Given the description of an element on the screen output the (x, y) to click on. 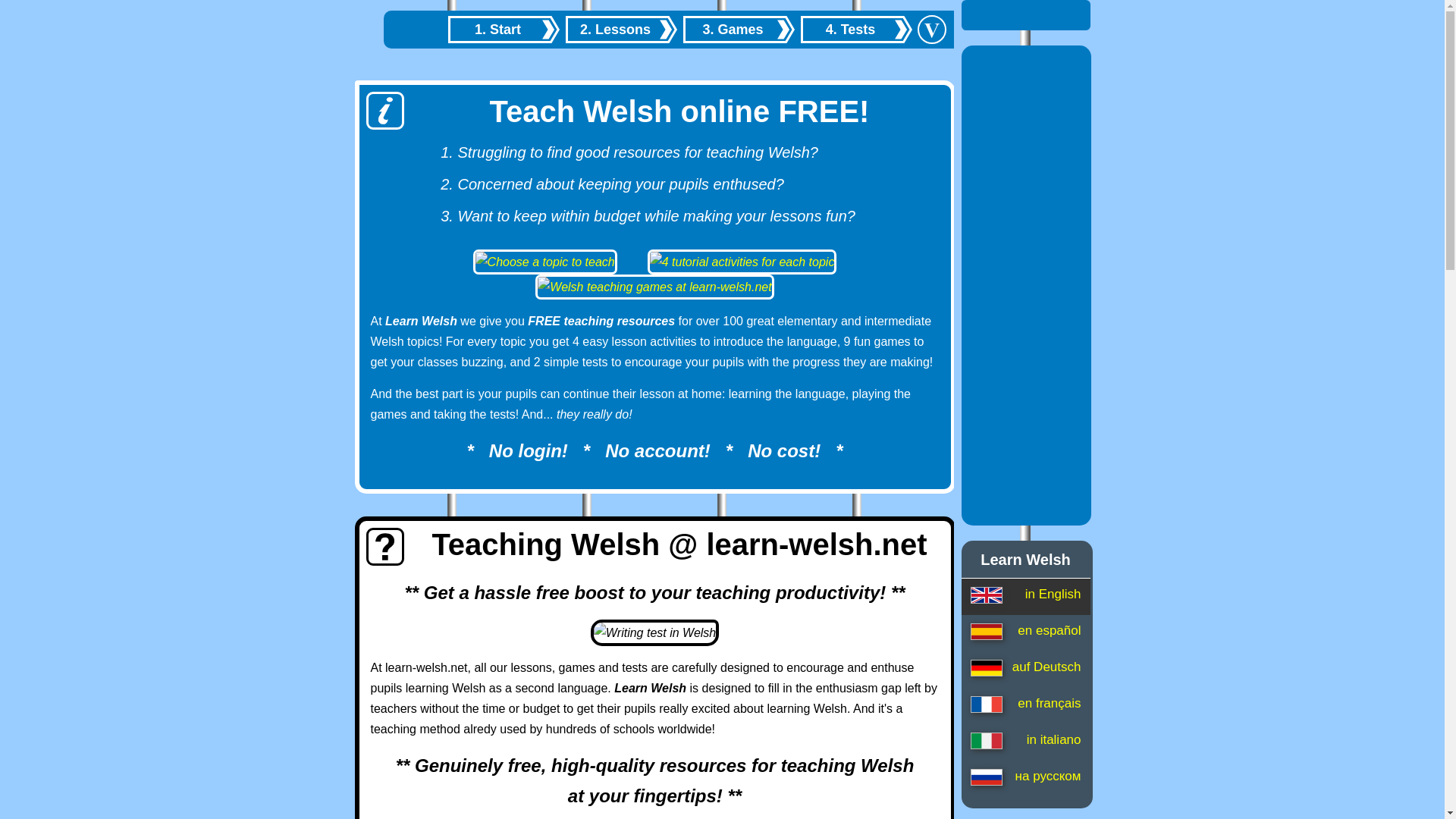
1. Start (502, 29)
Choose a topic to teach (544, 261)
4. Tests (856, 29)
3. Games (737, 29)
4 tutorial activities for each topic (741, 261)
Vocabulary pages (931, 29)
2. Lessons (621, 29)
Writing test in Welsh (655, 632)
Test how well you've learned the topic with our Welsh tests (856, 29)
Start by selecting a Welsh topic to learn (502, 29)
Welsh teaching games at learn-welsh.net (654, 286)
